Given the description of an element on the screen output the (x, y) to click on. 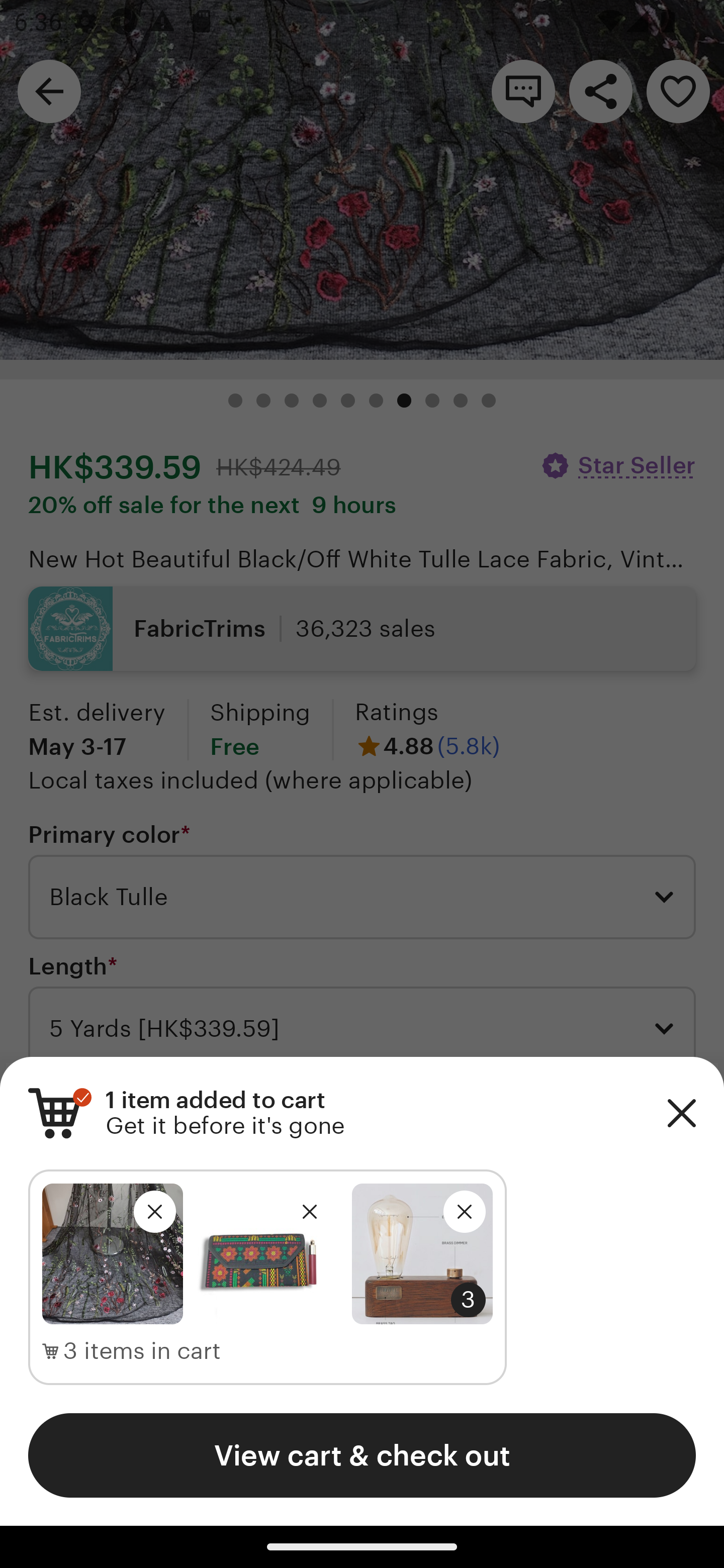
3 items in cart (131, 1351)
View cart & check out (361, 1454)
